Given the description of an element on the screen output the (x, y) to click on. 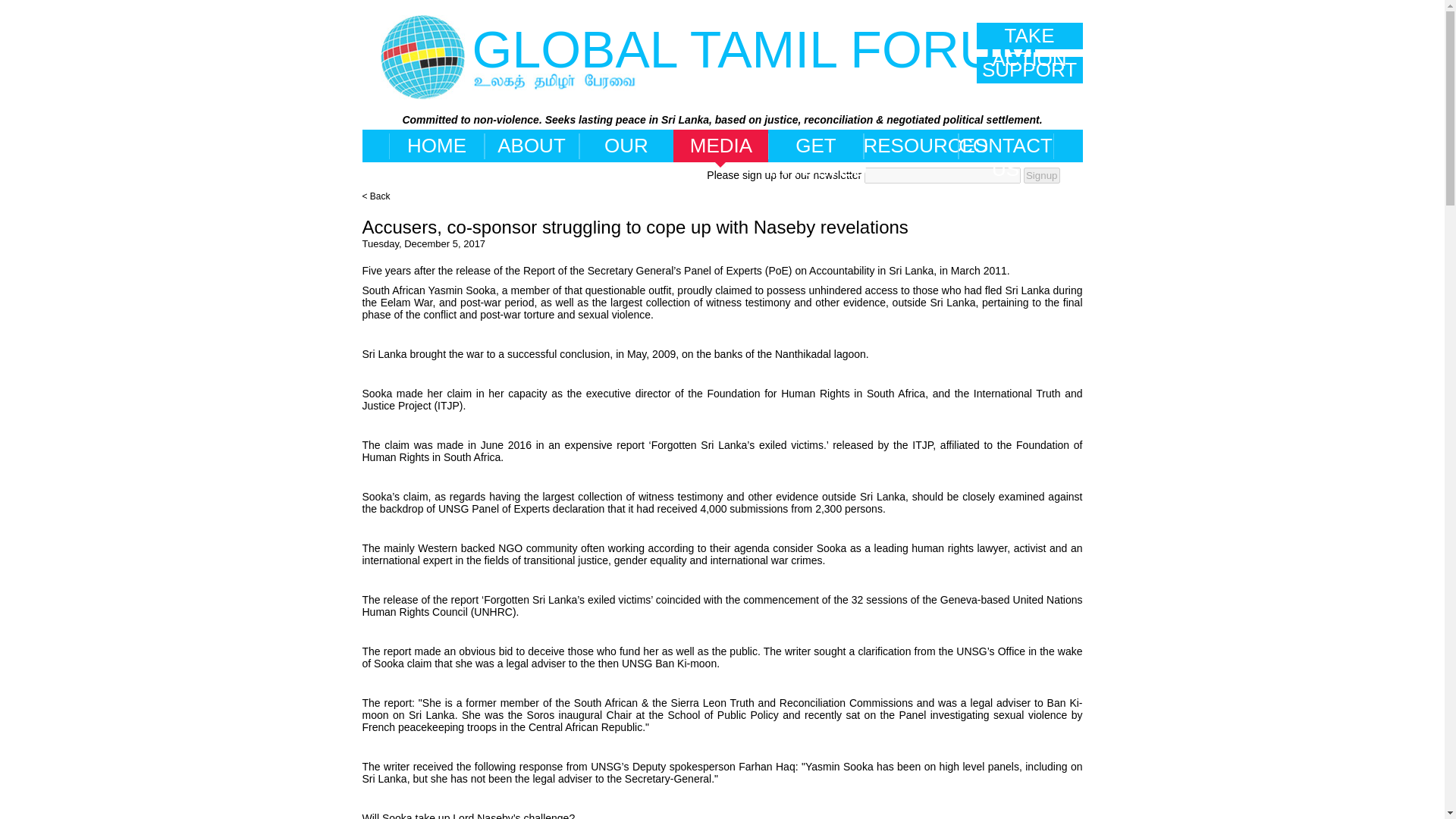
OUR WORK (626, 145)
HOME (436, 145)
RESOURCES (911, 145)
Signup (1041, 175)
SUPPORT US (1029, 69)
CONTACT US (1004, 145)
ABOUT US (531, 145)
GET INVOLVED (815, 145)
TAKE ACTION (1029, 35)
MEDIA (721, 145)
Signup (1041, 175)
